Given the description of an element on the screen output the (x, y) to click on. 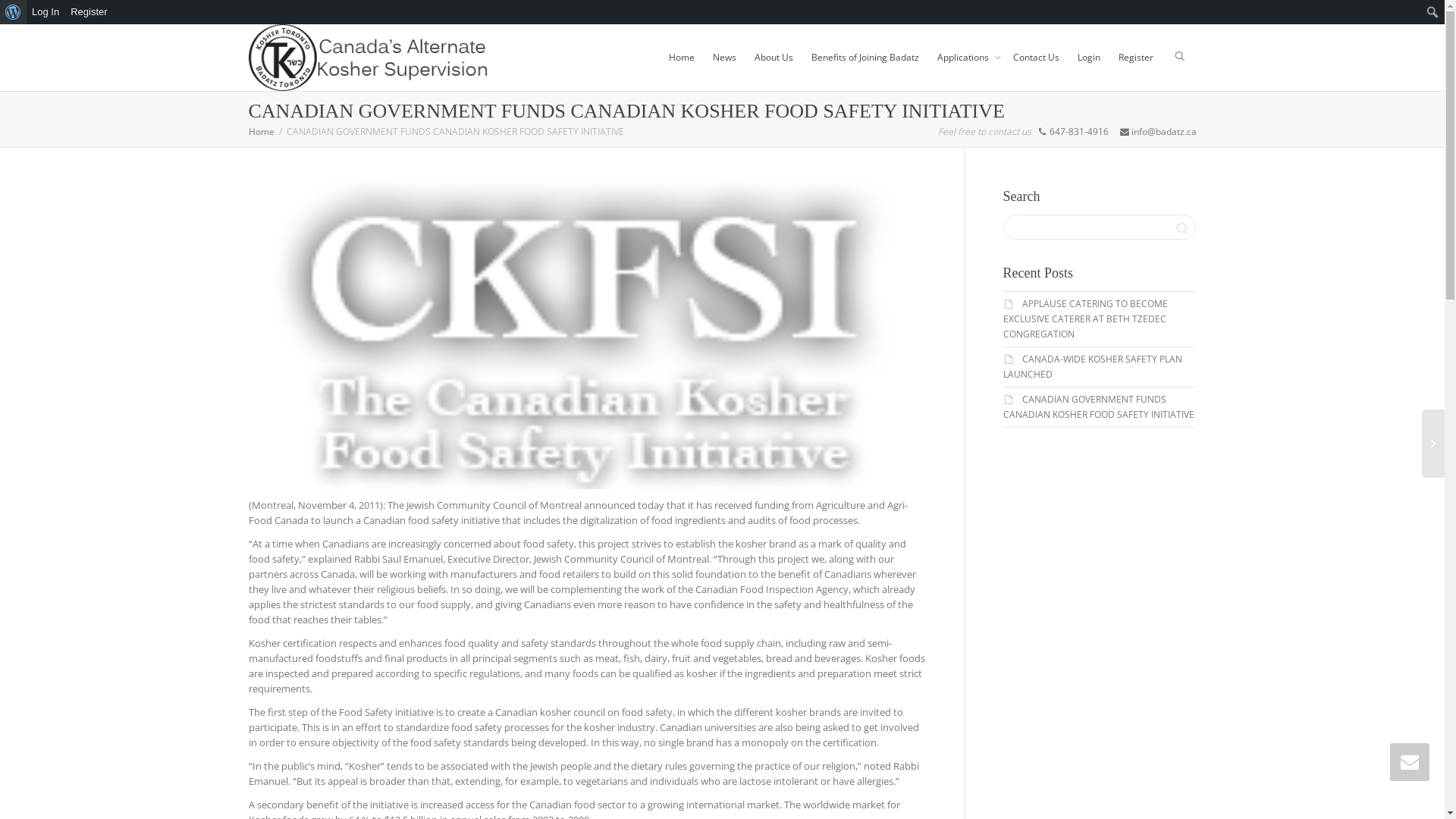
Search Element type: text (17, 13)
Applications Element type: text (965, 57)
Login Element type: text (1087, 57)
Benefits of Joining Badatz Element type: text (865, 57)
Home Element type: text (261, 131)
About Us Element type: text (772, 57)
Search Element type: text (1181, 227)
Badatz Element type: hover (367, 57)
Register Element type: text (88, 12)
Home Element type: text (681, 57)
Register Element type: text (1134, 57)
Log In Element type: text (45, 12)
News Element type: text (724, 57)
CANADA-WIDE KOSHER SAFETY PLAN LAUNCHED Element type: text (1091, 366)
Contact Us Element type: text (1036, 57)
